Given the description of an element on the screen output the (x, y) to click on. 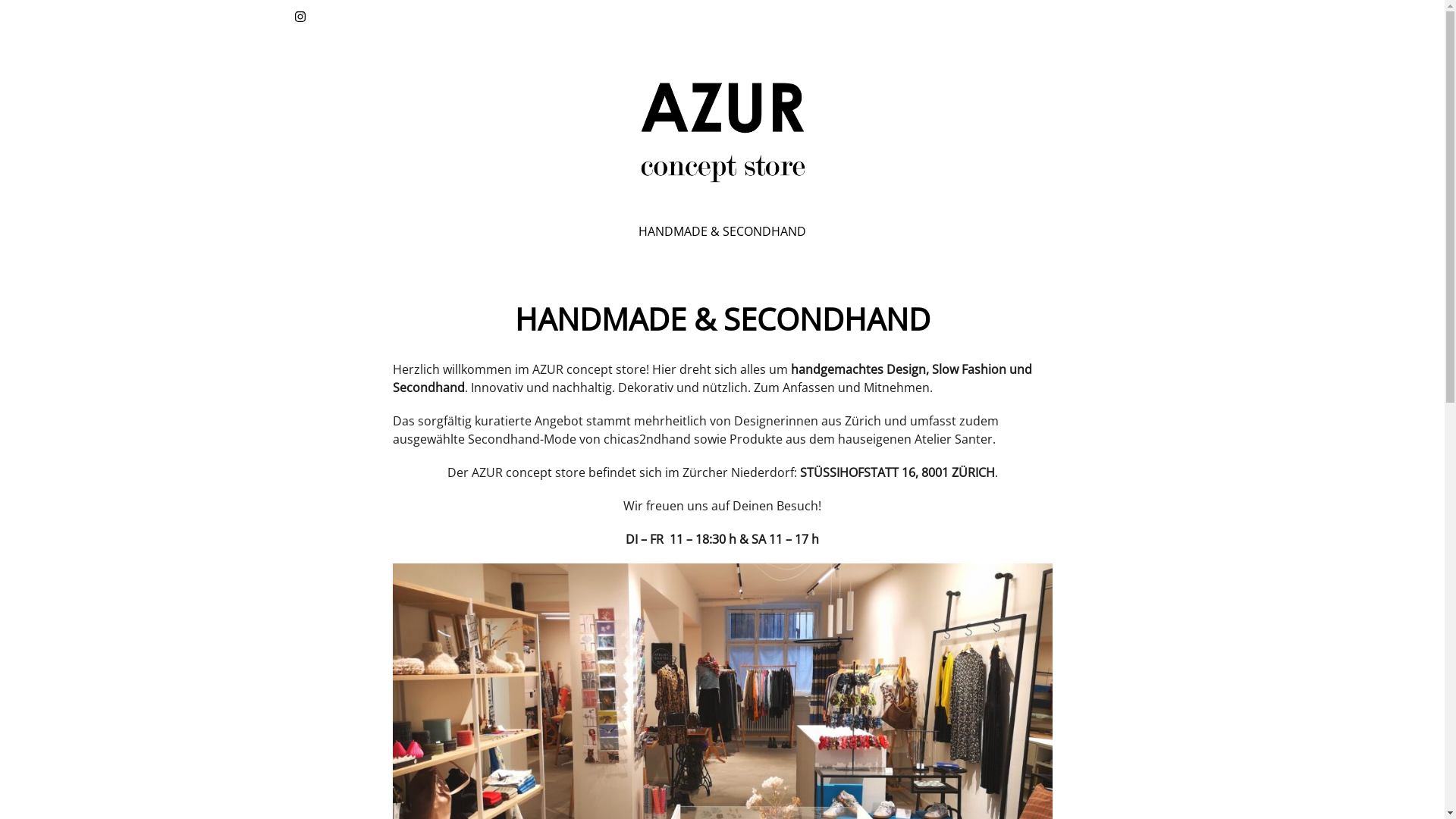
AZUR concept store Element type: text (427, 228)
HANDMADE & SECONDHAND Element type: text (722, 231)
